Given the description of an element on the screen output the (x, y) to click on. 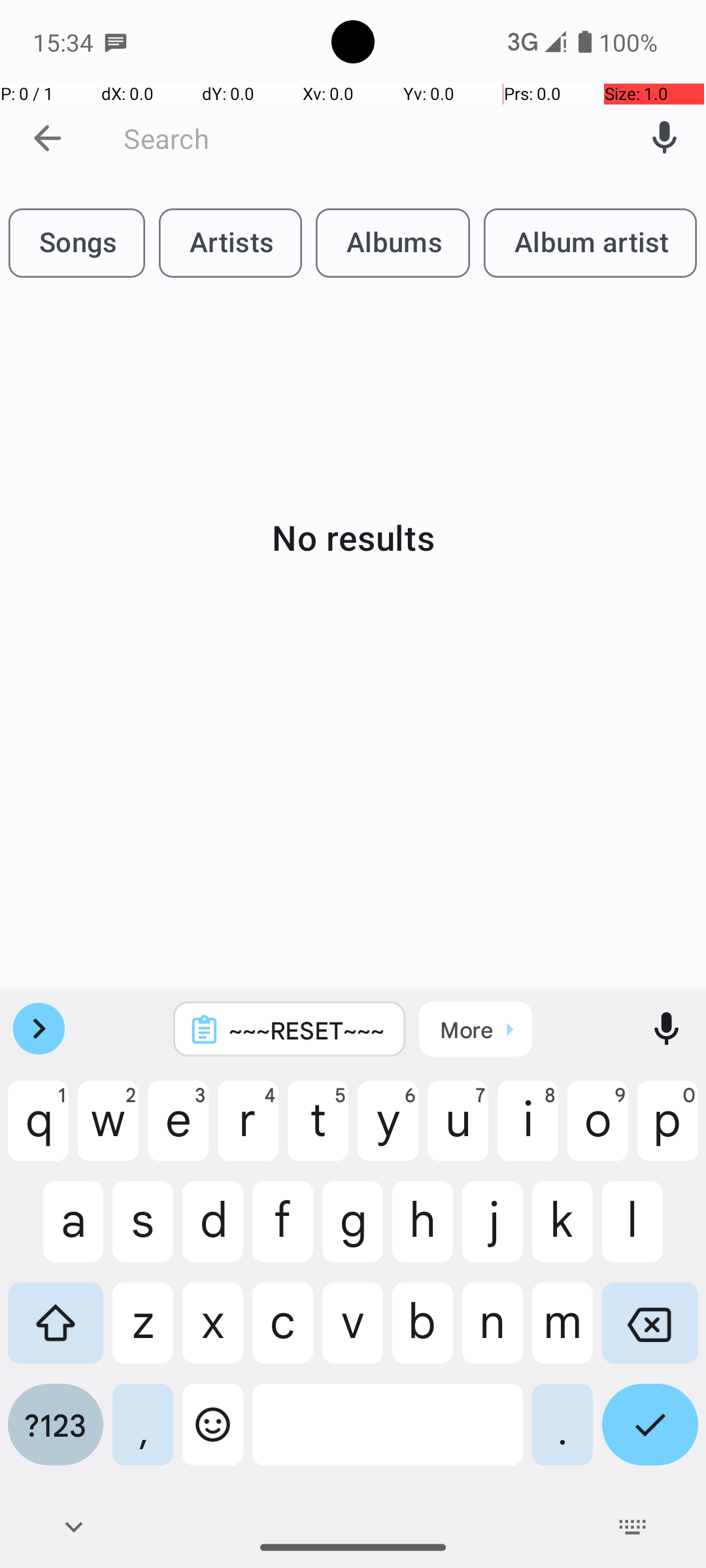
No results Element type: android.widget.TextView (352, 537)
Album artist Element type: android.widget.RadioButton (589, 242)
~~~RESET~~~ Element type: android.widget.TextView (306, 1029)
